Given the description of an element on the screen output the (x, y) to click on. 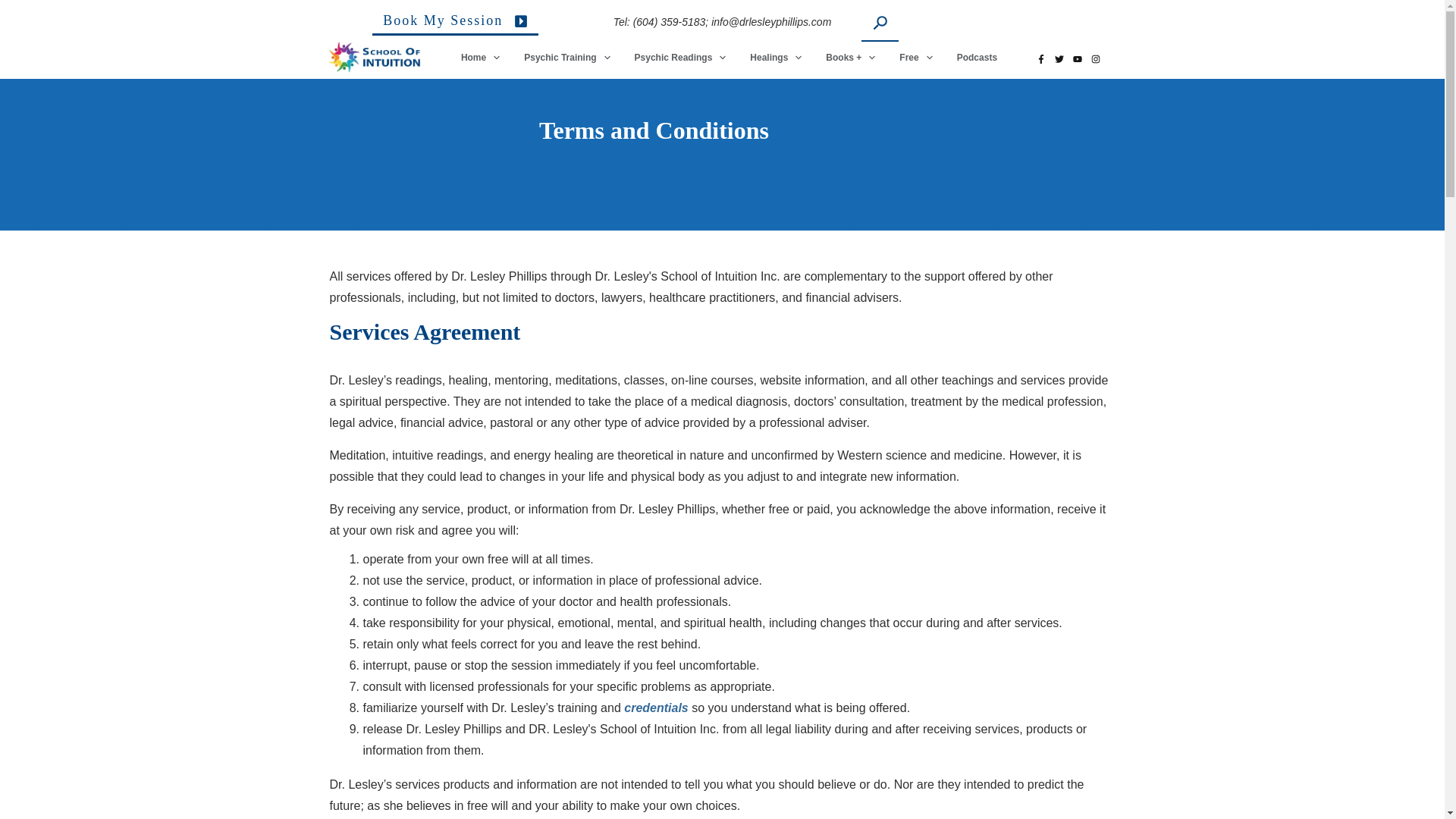
Podcasts (976, 57)
Book My Session (455, 24)
Healings (776, 57)
Home (480, 57)
Psychic Training (567, 57)
Psychic Readings (681, 57)
Free (916, 57)
